Given the description of an element on the screen output the (x, y) to click on. 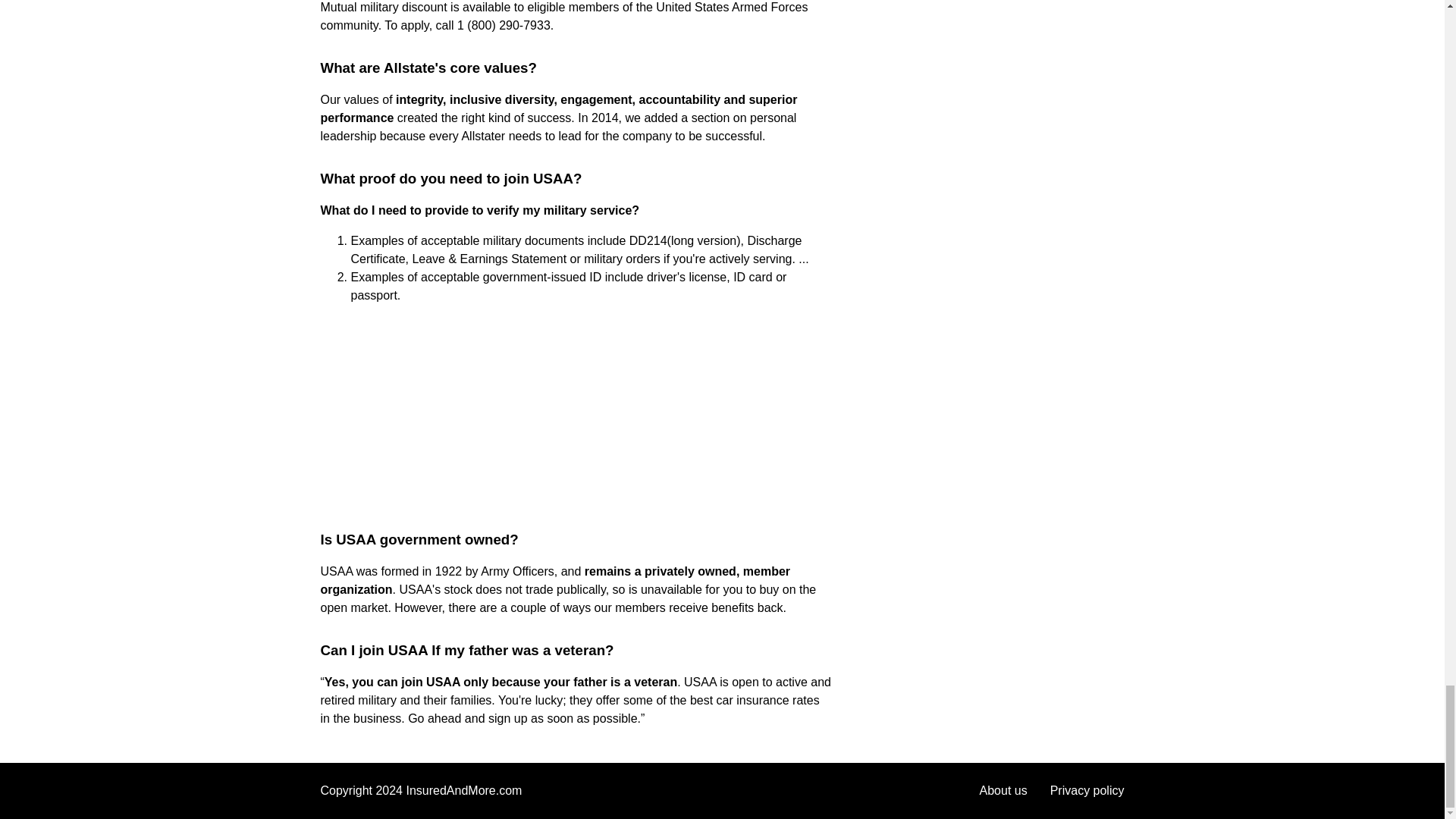
About us (1003, 790)
Privacy policy (1086, 790)
